Given the description of an element on the screen output the (x, y) to click on. 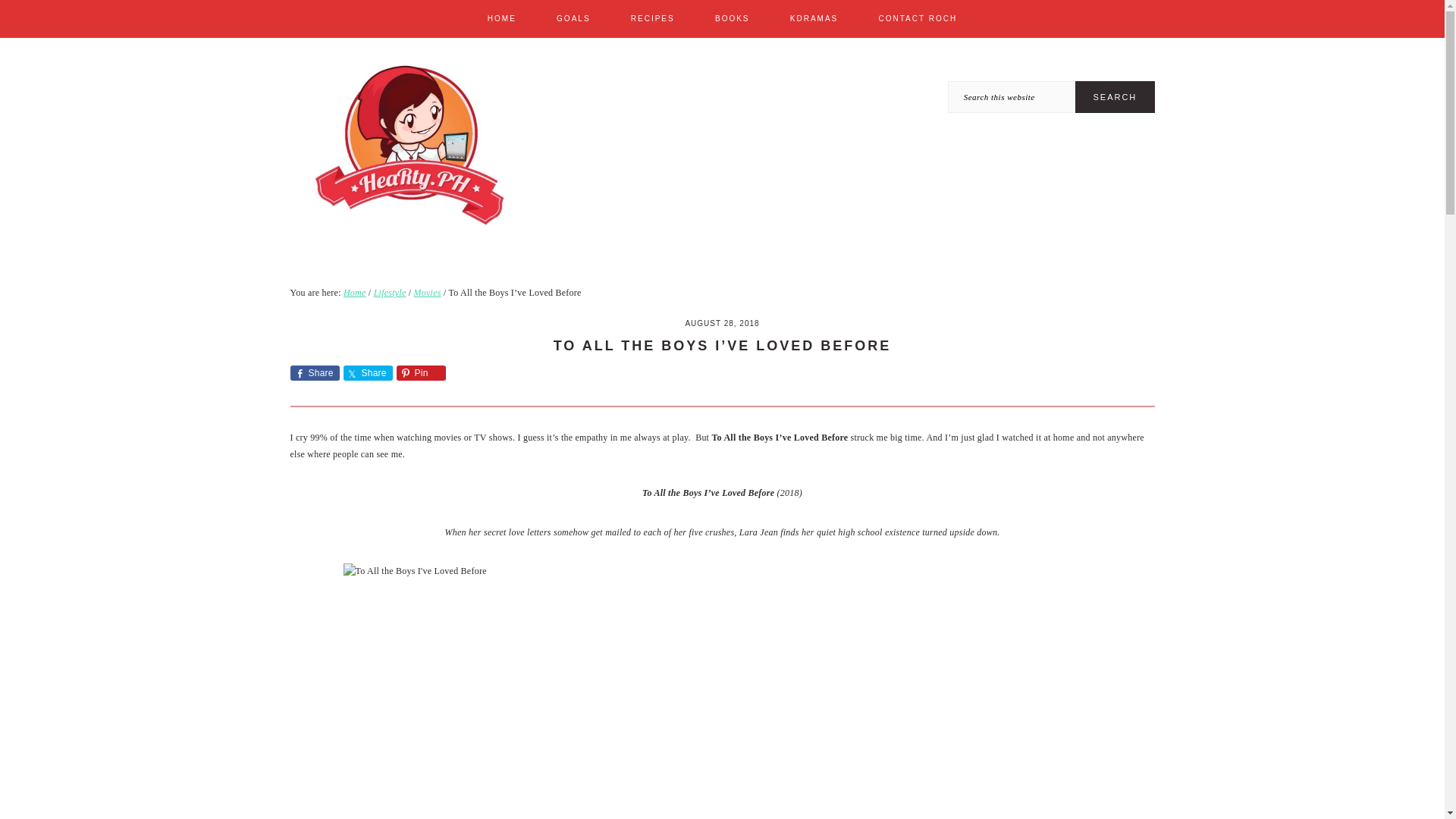
GOALS (572, 18)
Share (366, 372)
Home (354, 292)
HeaRty.PH (410, 143)
KDRAMAS (814, 18)
Search (1114, 97)
BOOKS (731, 18)
RECIPES (652, 18)
Search (1114, 97)
Pin (420, 372)
Search (1114, 97)
Lifestyle (390, 292)
Share (314, 372)
HeaRty.PH (410, 240)
